Given the description of an element on the screen output the (x, y) to click on. 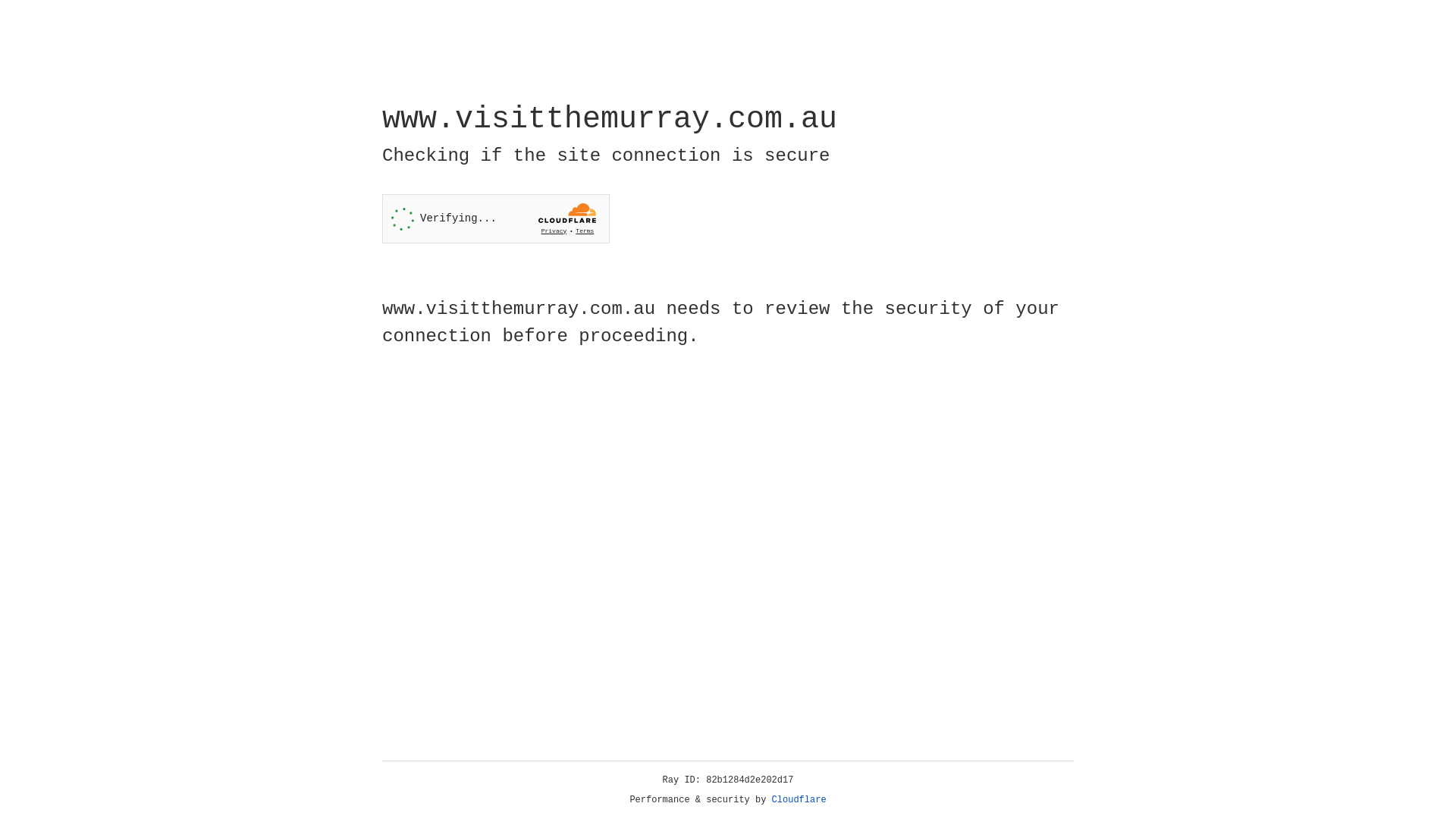
Cloudflare Element type: text (798, 799)
Widget containing a Cloudflare security challenge Element type: hover (495, 218)
